Given the description of an element on the screen output the (x, y) to click on. 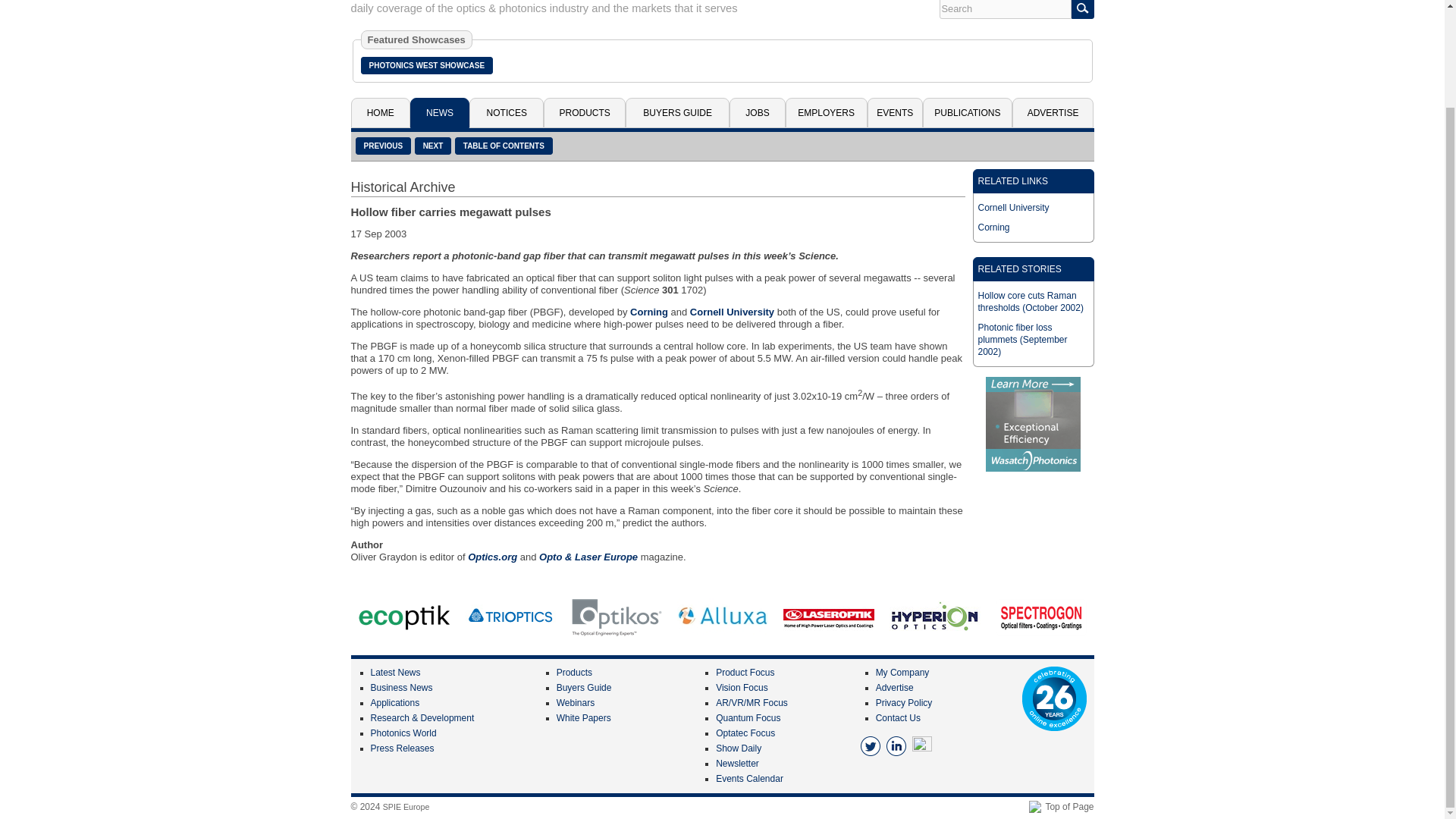
LinkedIn (895, 745)
Search (1004, 9)
RSS Feeds (921, 745)
NOTICES (505, 112)
JOBS (757, 112)
BUYERS GUIDE (677, 112)
NEWS (439, 112)
PHOTONICS WEST SHOWCASE (427, 65)
Twitter (870, 745)
HOME (379, 112)
PRODUCTS (584, 112)
